Given the description of an element on the screen output the (x, y) to click on. 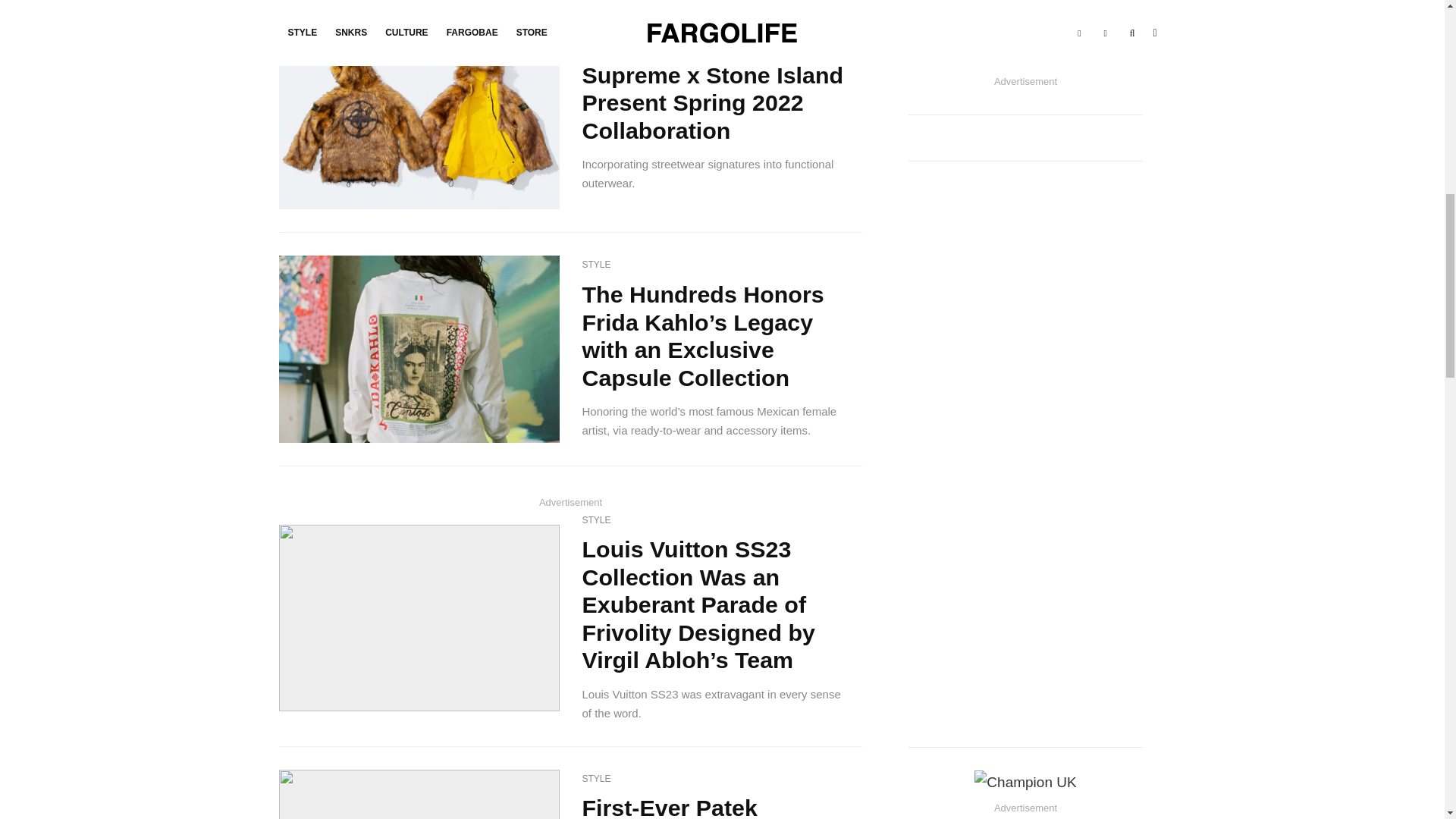
STYLE (596, 779)
Supreme x Stone Island Present Spring 2022 Collaboration (716, 102)
STYLE (596, 520)
STYLE (654, 46)
FARGOBAE (606, 46)
STYLE (596, 264)
